Given the description of an element on the screen output the (x, y) to click on. 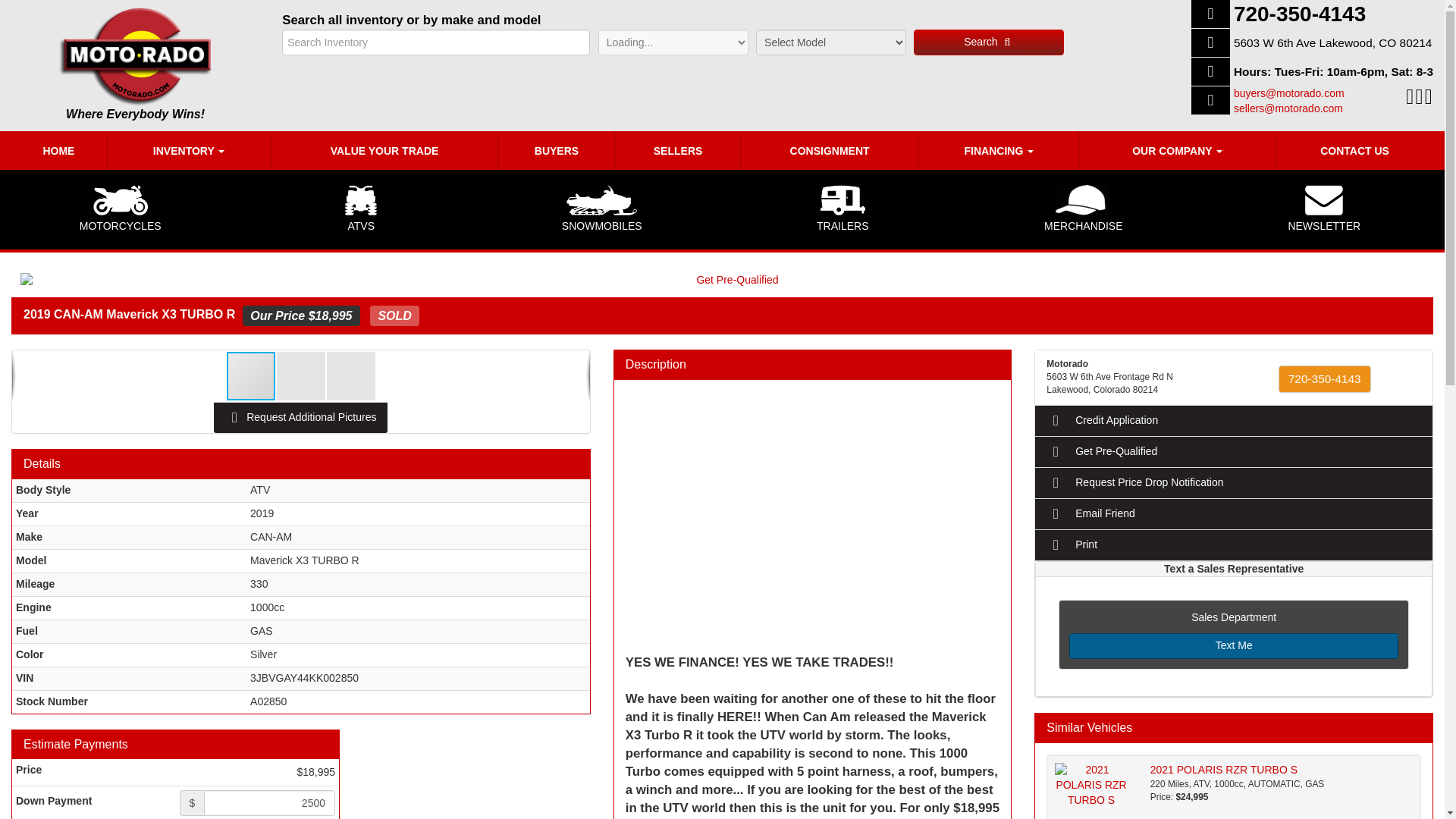
OUR COMPANY (1177, 150)
INVENTORY (188, 150)
HOME (58, 150)
BUYERS (556, 150)
SELLERS (677, 150)
VALUE YOUR TRADE (383, 150)
FINANCING (998, 150)
2500 (268, 802)
CONSIGNMENT (829, 150)
